Given the description of an element on the screen output the (x, y) to click on. 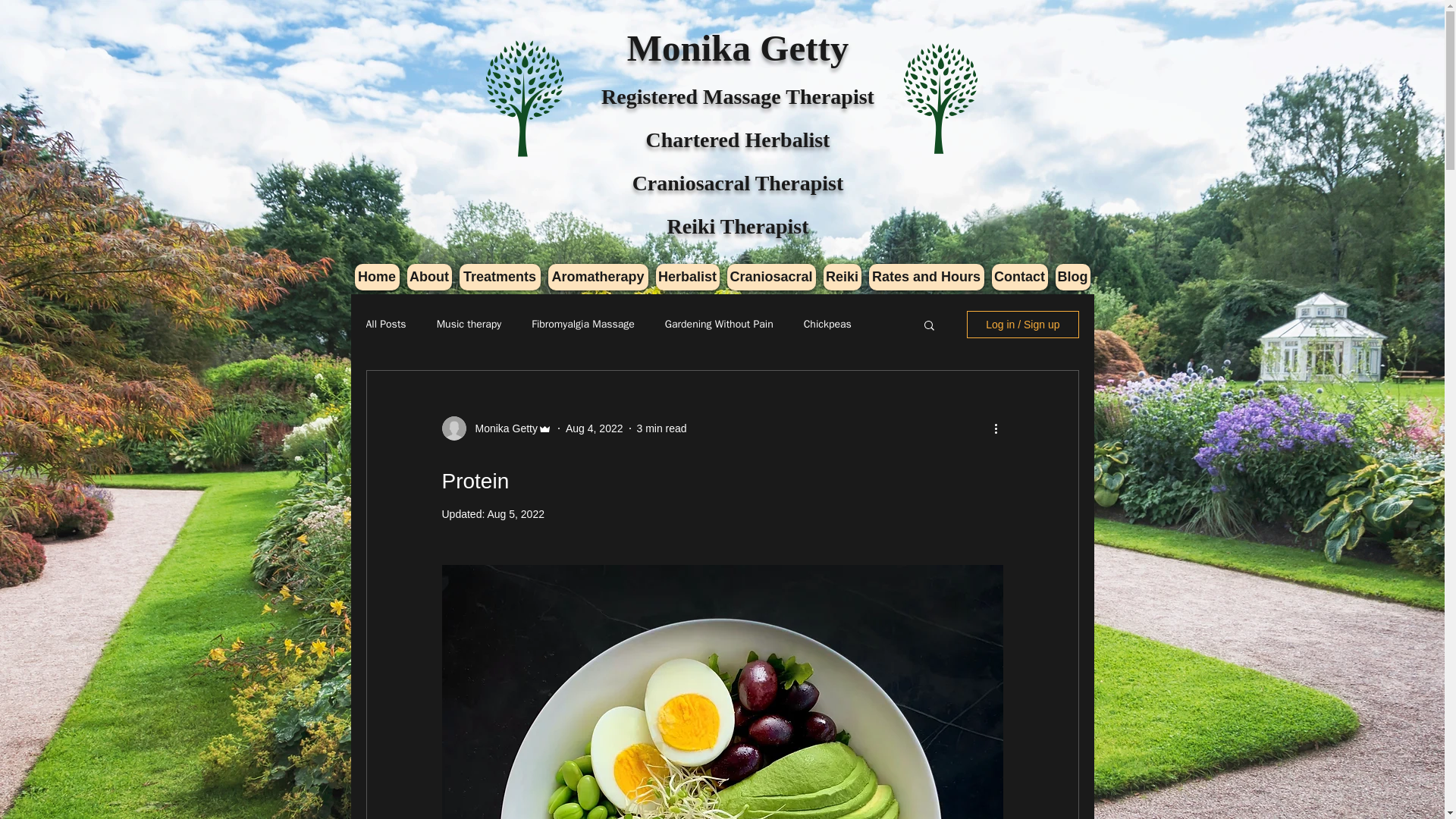
Chickpeas (827, 324)
Monika Getty (501, 427)
All Posts (385, 324)
Craniosacral (770, 276)
Blog (1072, 276)
Fibromyalgia Massage (582, 324)
About (428, 276)
Rates and Hours (926, 276)
Herbalist (687, 276)
Aug 4, 2022 (594, 427)
Contact (1019, 276)
Aromatherapy (597, 276)
Aug 5, 2022 (515, 513)
Gardening Without Pain (719, 324)
3 min read (662, 427)
